Given the description of an element on the screen output the (x, y) to click on. 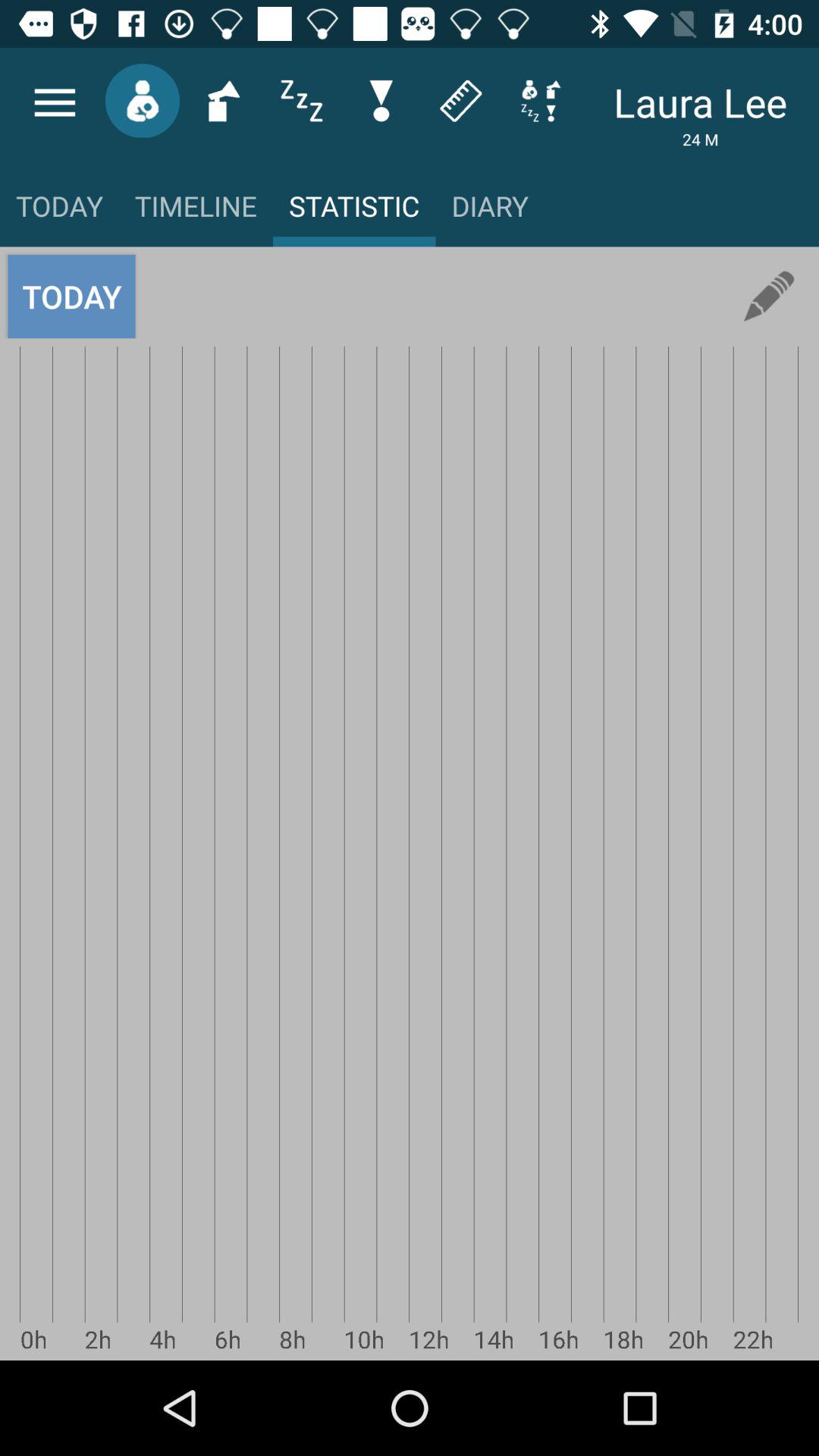
launch the item below 24 m (769, 296)
